Given the description of an element on the screen output the (x, y) to click on. 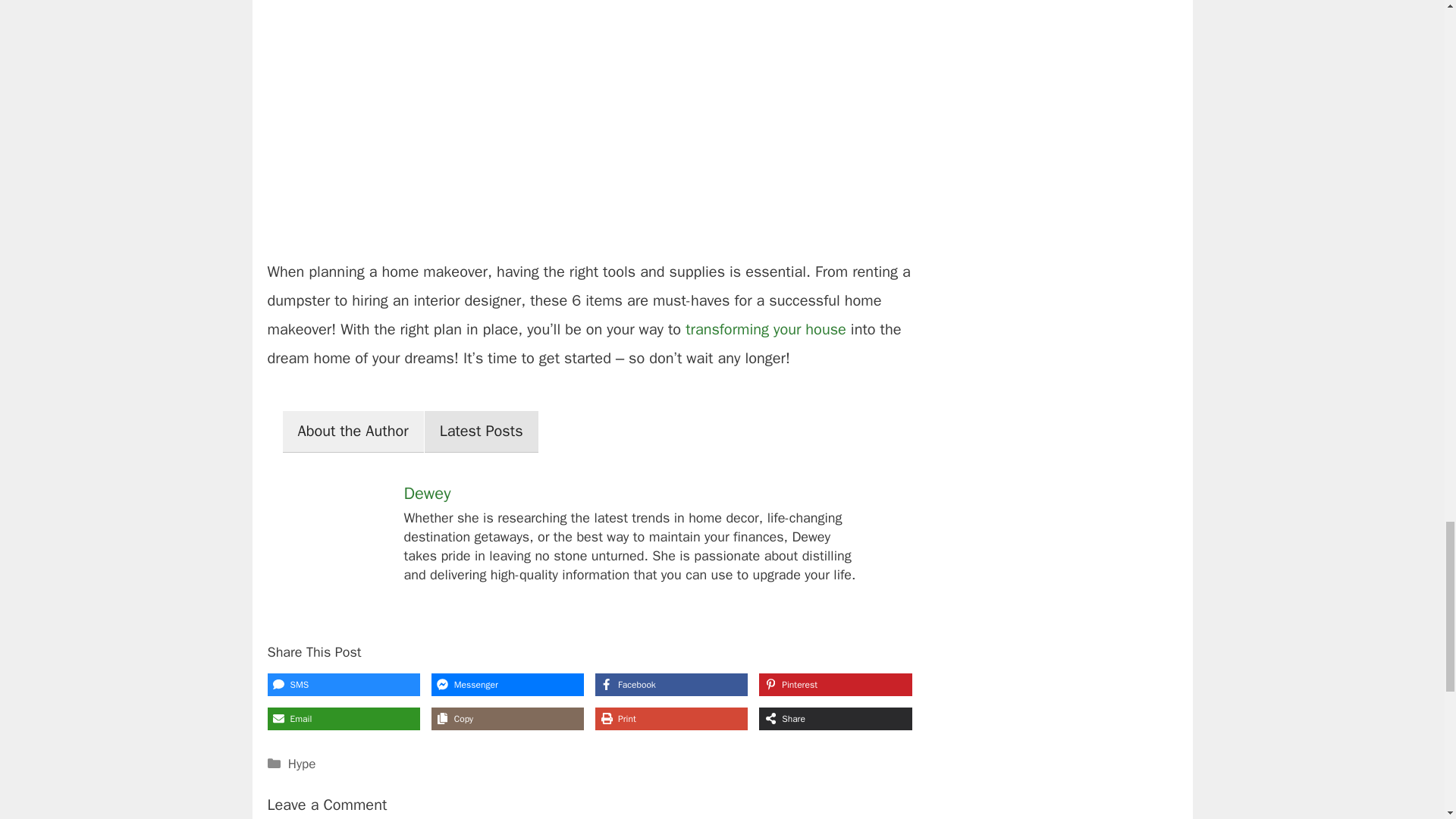
You need these 6 things when doing a home makeover (588, 220)
